Given the description of an element on the screen output the (x, y) to click on. 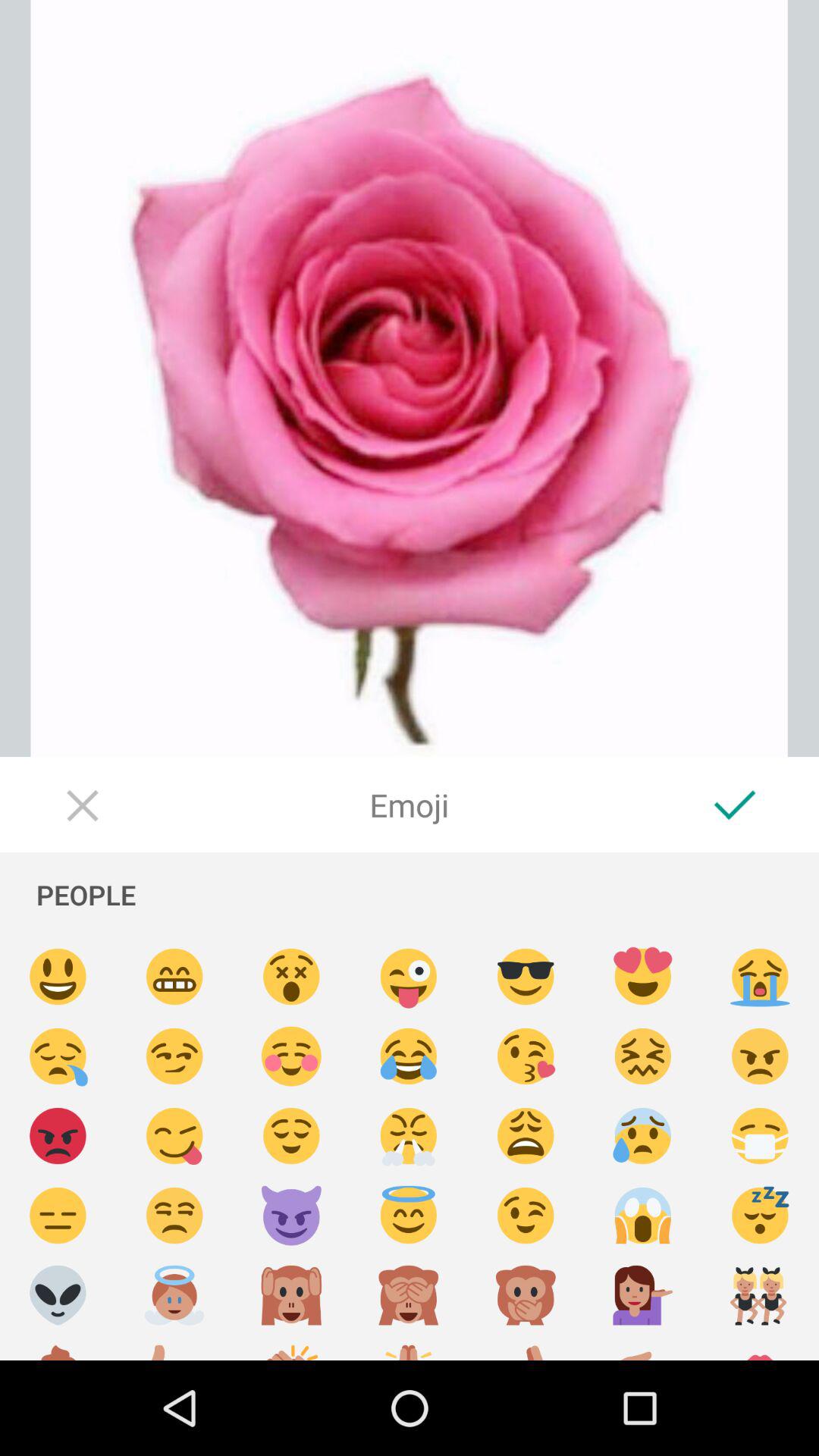
choose an angel emoji (174, 1295)
